Given the description of an element on the screen output the (x, y) to click on. 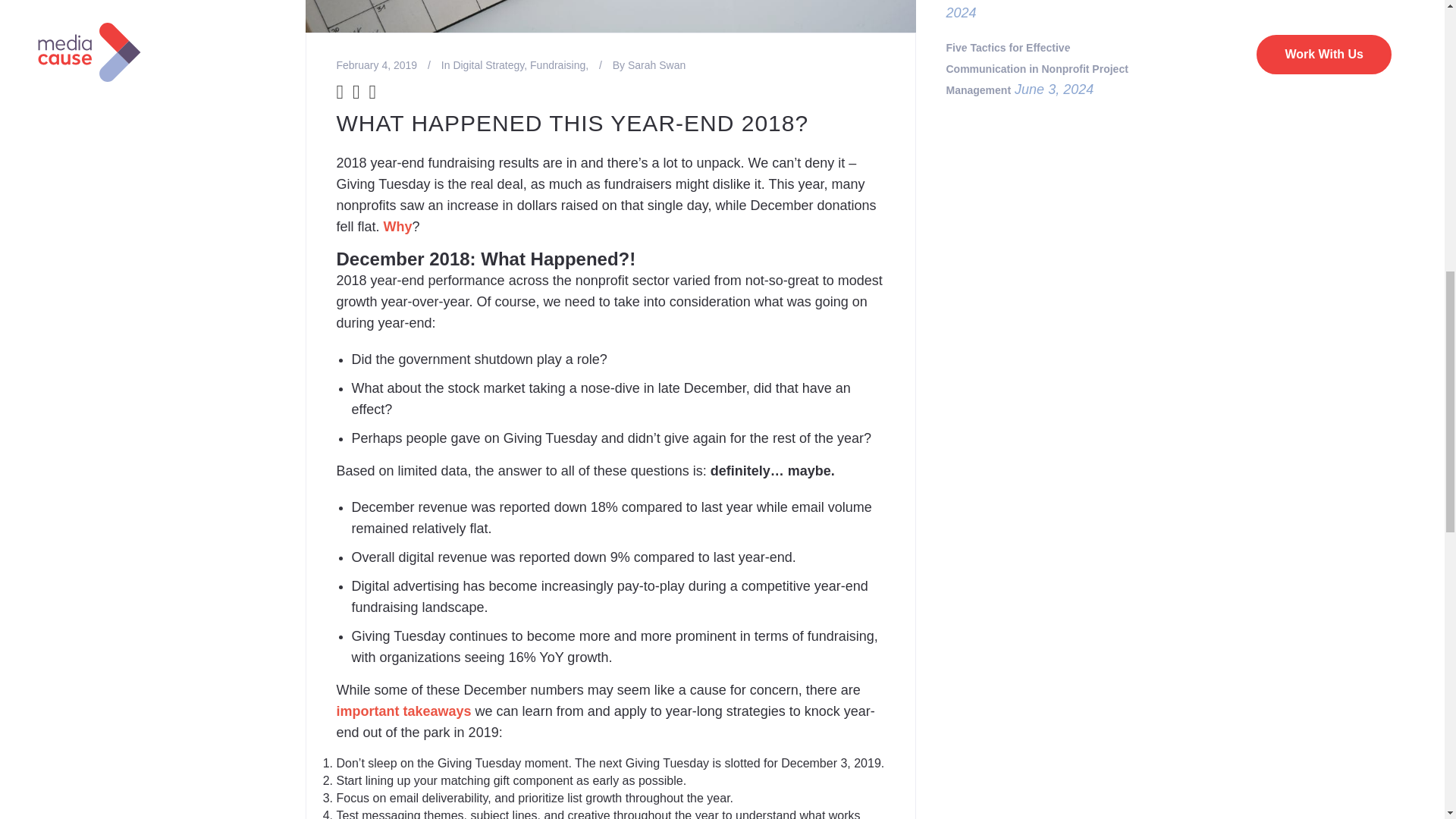
important takeaways (403, 711)
Sarah Swan (656, 64)
Why (398, 226)
